Given the description of an element on the screen output the (x, y) to click on. 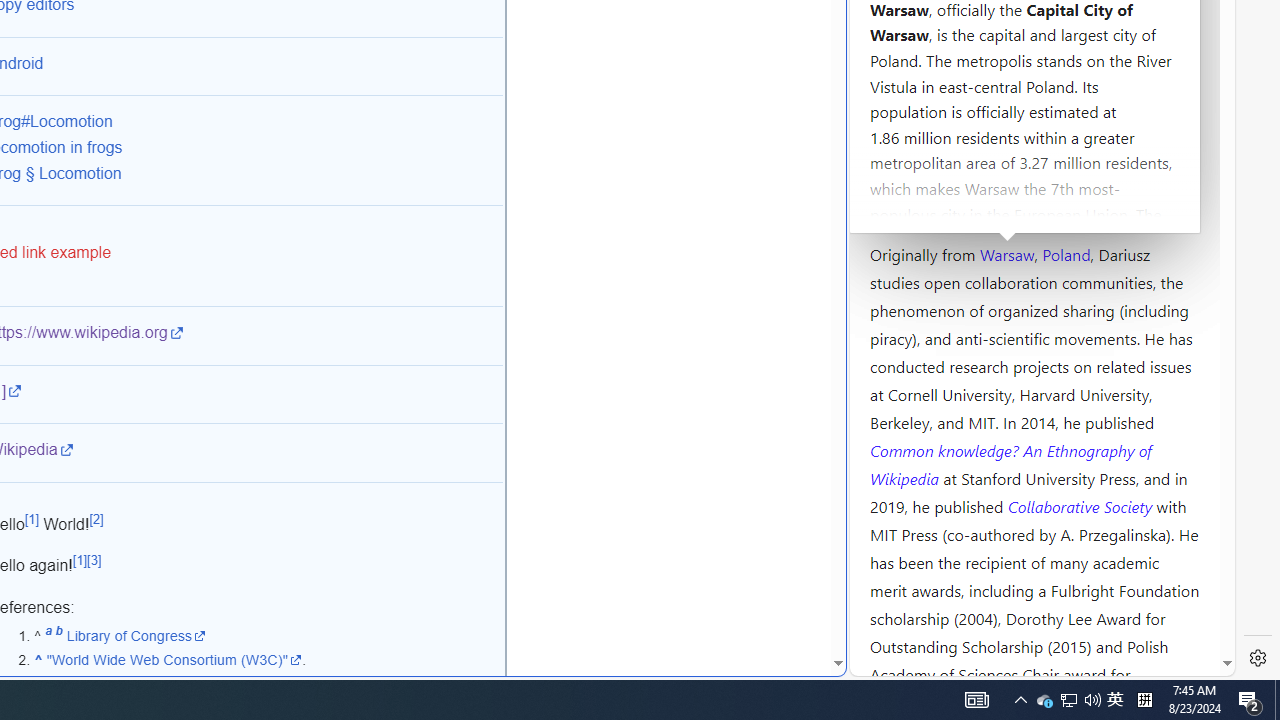
Poland (1065, 253)
^ "World Wide Web Consortium (W3C)". (267, 660)
Warsaw (1006, 253)
Kozminski University (1034, 136)
^ Perry's Handbook, Sixth Edition, McGraw-Hill Co., 1984. (267, 684)
Collaborative Society  (1082, 505)
[1] (79, 560)
Jump up (38, 660)
Harvard University (934, 205)
